Given the description of an element on the screen output the (x, y) to click on. 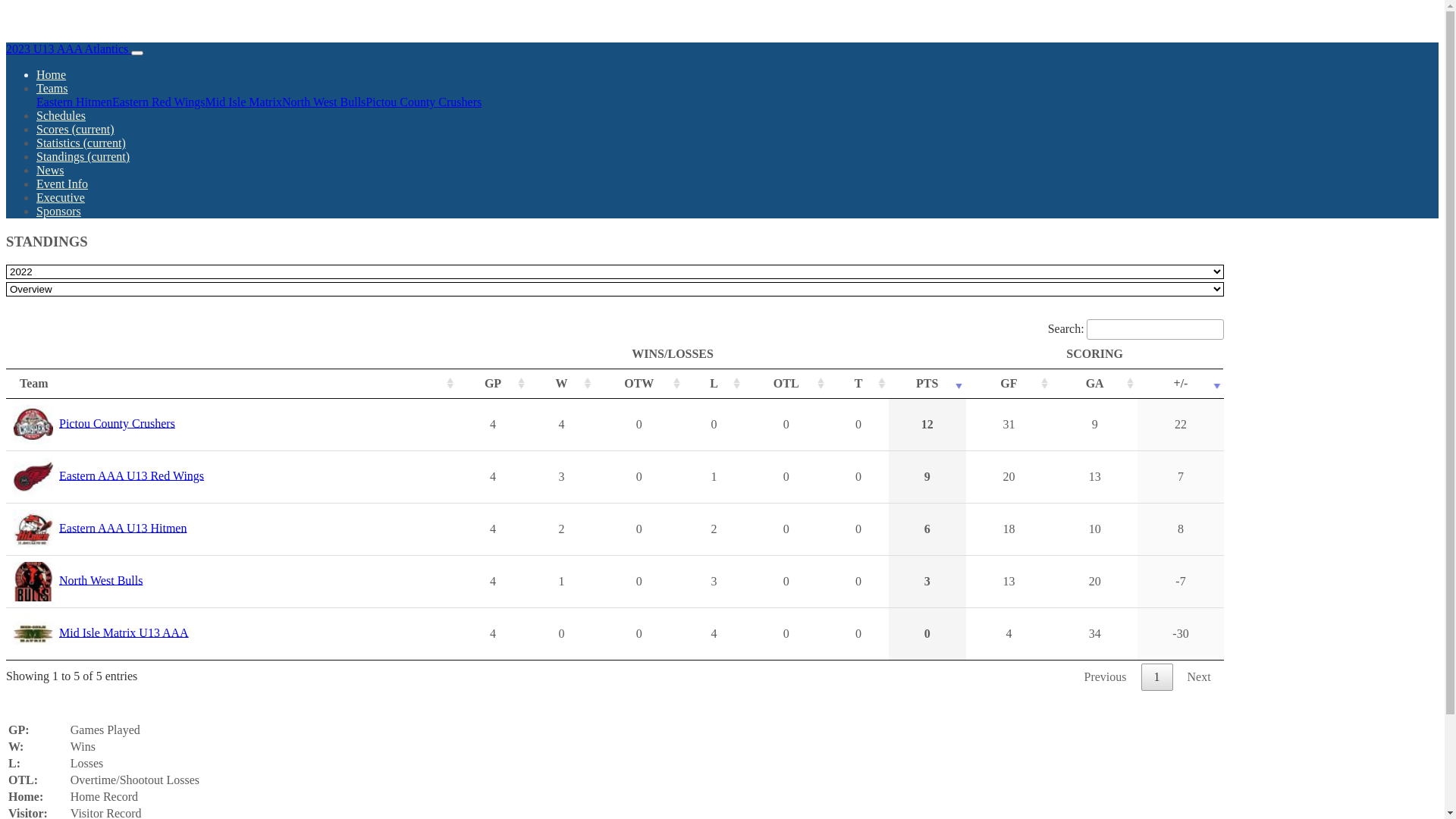
Sponsors Element type: text (58, 210)
Event Info Element type: text (61, 183)
Mid Isle Matrix U13 AAA Element type: text (123, 631)
Teams Element type: text (52, 87)
2023 U13 AAA Atlantics Element type: text (68, 48)
Mid Isle Matrix Element type: text (243, 101)
Previous Element type: text (1105, 676)
Eastern AAA U13 Hitmen Element type: text (122, 526)
Executive Element type: text (60, 197)
Next Element type: text (1198, 676)
News Element type: text (49, 169)
Eastern Red Wings Element type: text (158, 101)
Pictou County Crushers Element type: text (117, 422)
Eastern AAA U13 Red Wings Element type: text (131, 474)
1 Element type: text (1157, 676)
Standings (current) Element type: text (82, 156)
Schedules Element type: text (60, 115)
Eastern Hitmen Element type: text (74, 101)
Statistics (current) Element type: text (80, 142)
North West Bulls Element type: text (323, 101)
Home Element type: text (50, 74)
North West Bulls Element type: text (100, 579)
Pictou County Crushers Element type: text (423, 101)
Scores (current) Element type: text (75, 128)
